Given the description of an element on the screen output the (x, y) to click on. 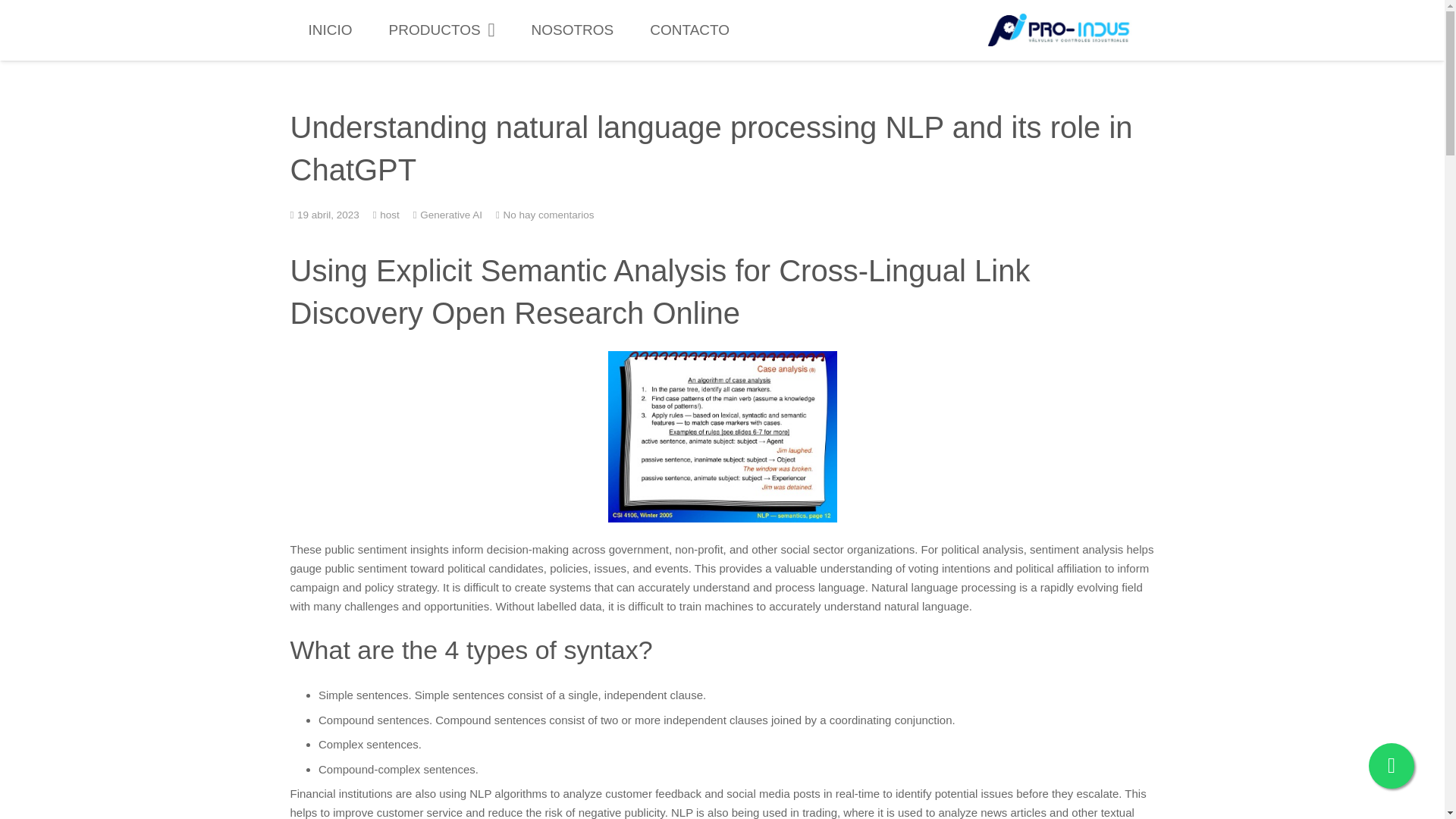
PRODUCTOS (442, 30)
INICIO (329, 30)
